Given the description of an element on the screen output the (x, y) to click on. 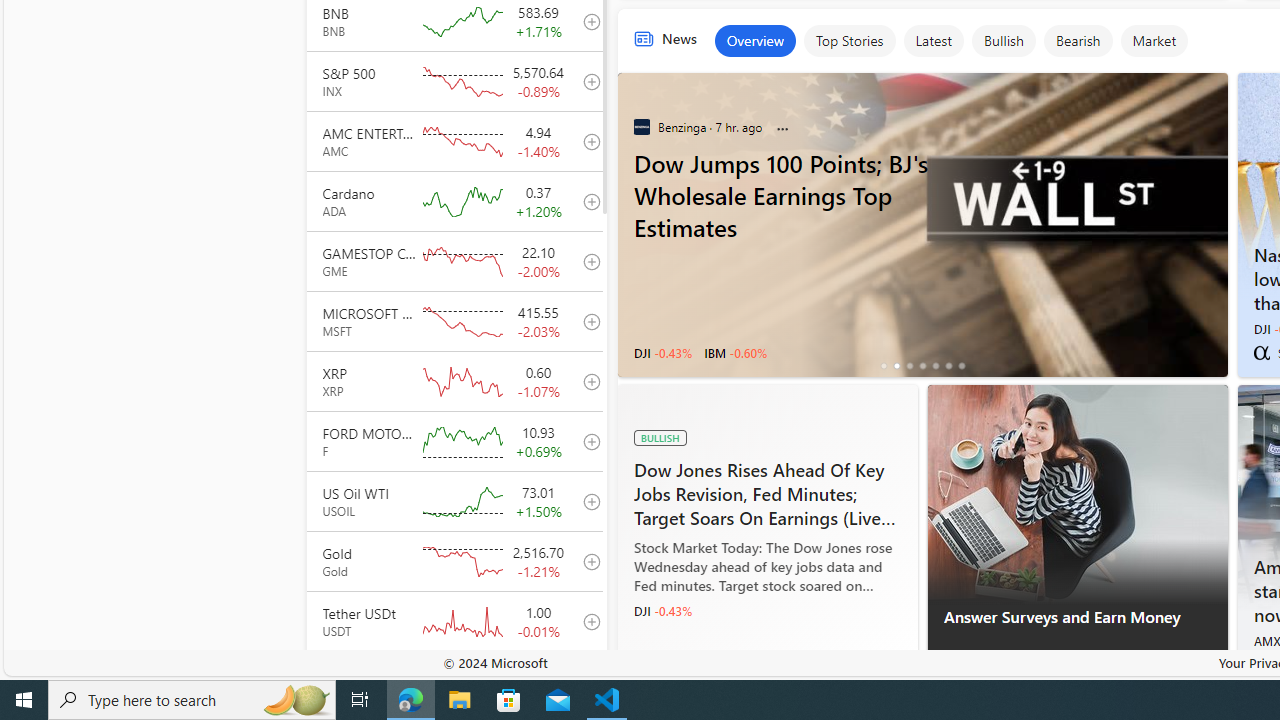
add to your watchlist (586, 681)
